Given the description of an element on the screen output the (x, y) to click on. 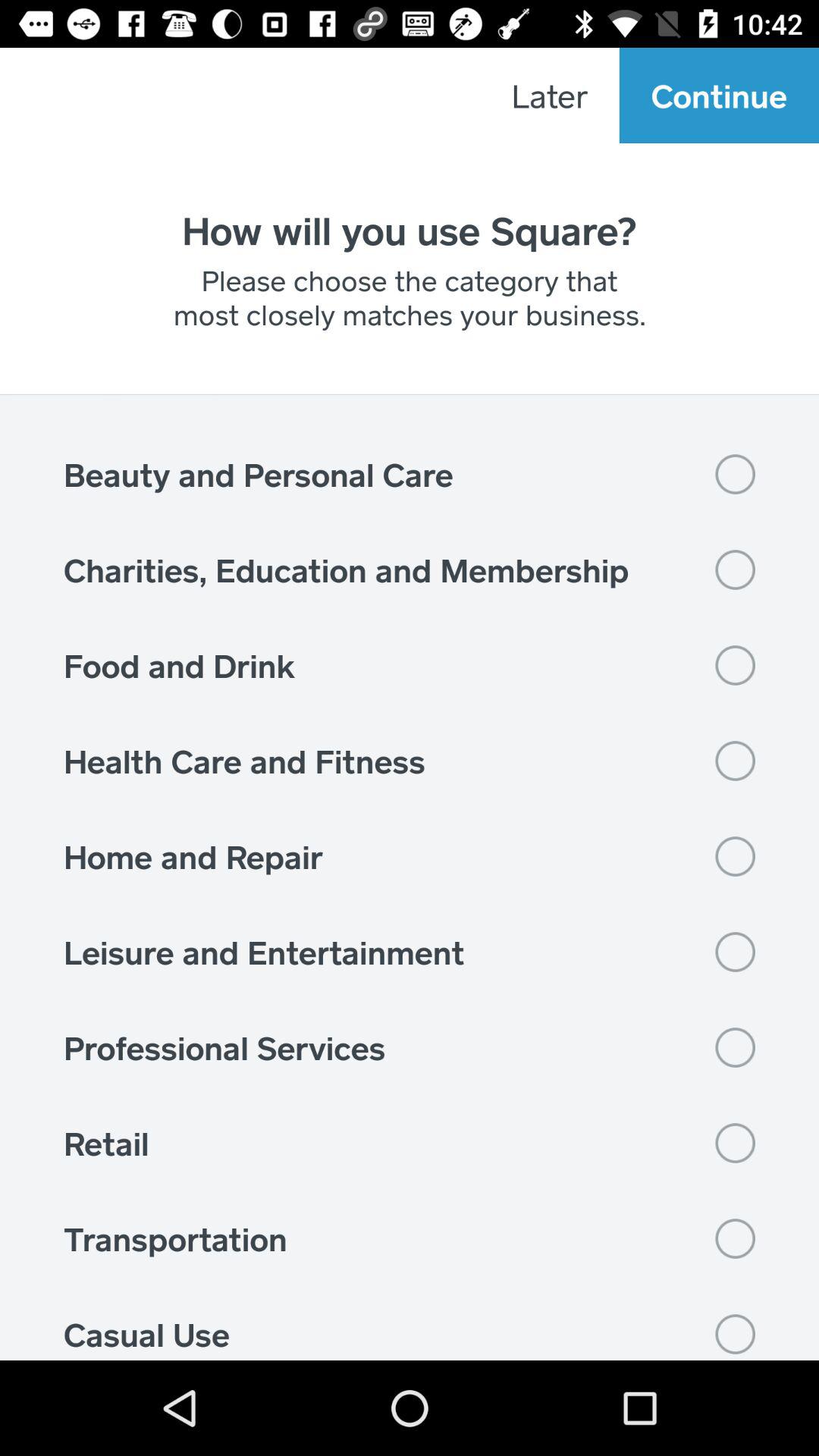
choose icon below the professional services icon (409, 1142)
